Given the description of an element on the screen output the (x, y) to click on. 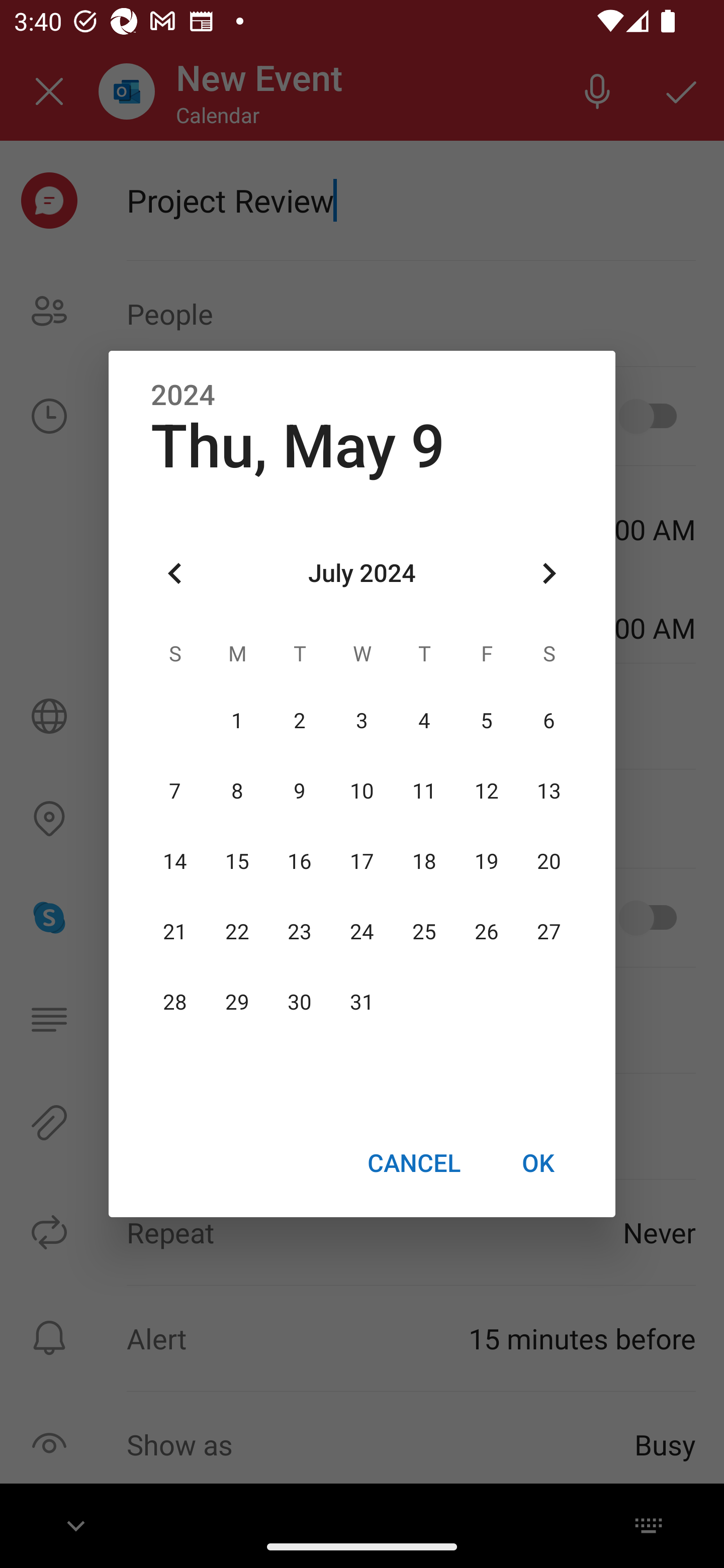
2024 (182, 395)
Thu, May 9 (297, 446)
Previous month (174, 573)
Next month (548, 573)
1 01 July 2024 (237, 720)
2 02 July 2024 (299, 720)
3 03 July 2024 (361, 720)
4 04 July 2024 (424, 720)
5 05 July 2024 (486, 720)
6 06 July 2024 (548, 720)
7 07 July 2024 (175, 790)
8 08 July 2024 (237, 790)
9 09 July 2024 (299, 790)
10 10 July 2024 (361, 790)
11 11 July 2024 (424, 790)
12 12 July 2024 (486, 790)
13 13 July 2024 (548, 790)
14 14 July 2024 (175, 861)
15 15 July 2024 (237, 861)
16 16 July 2024 (299, 861)
17 17 July 2024 (361, 861)
18 18 July 2024 (424, 861)
19 19 July 2024 (486, 861)
20 20 July 2024 (548, 861)
21 21 July 2024 (175, 931)
22 22 July 2024 (237, 931)
23 23 July 2024 (299, 931)
24 24 July 2024 (361, 931)
25 25 July 2024 (424, 931)
26 26 July 2024 (486, 931)
27 27 July 2024 (548, 931)
28 28 July 2024 (175, 1002)
29 29 July 2024 (237, 1002)
30 30 July 2024 (299, 1002)
31 31 July 2024 (361, 1002)
CANCEL (413, 1162)
OK (537, 1162)
